Given the description of an element on the screen output the (x, y) to click on. 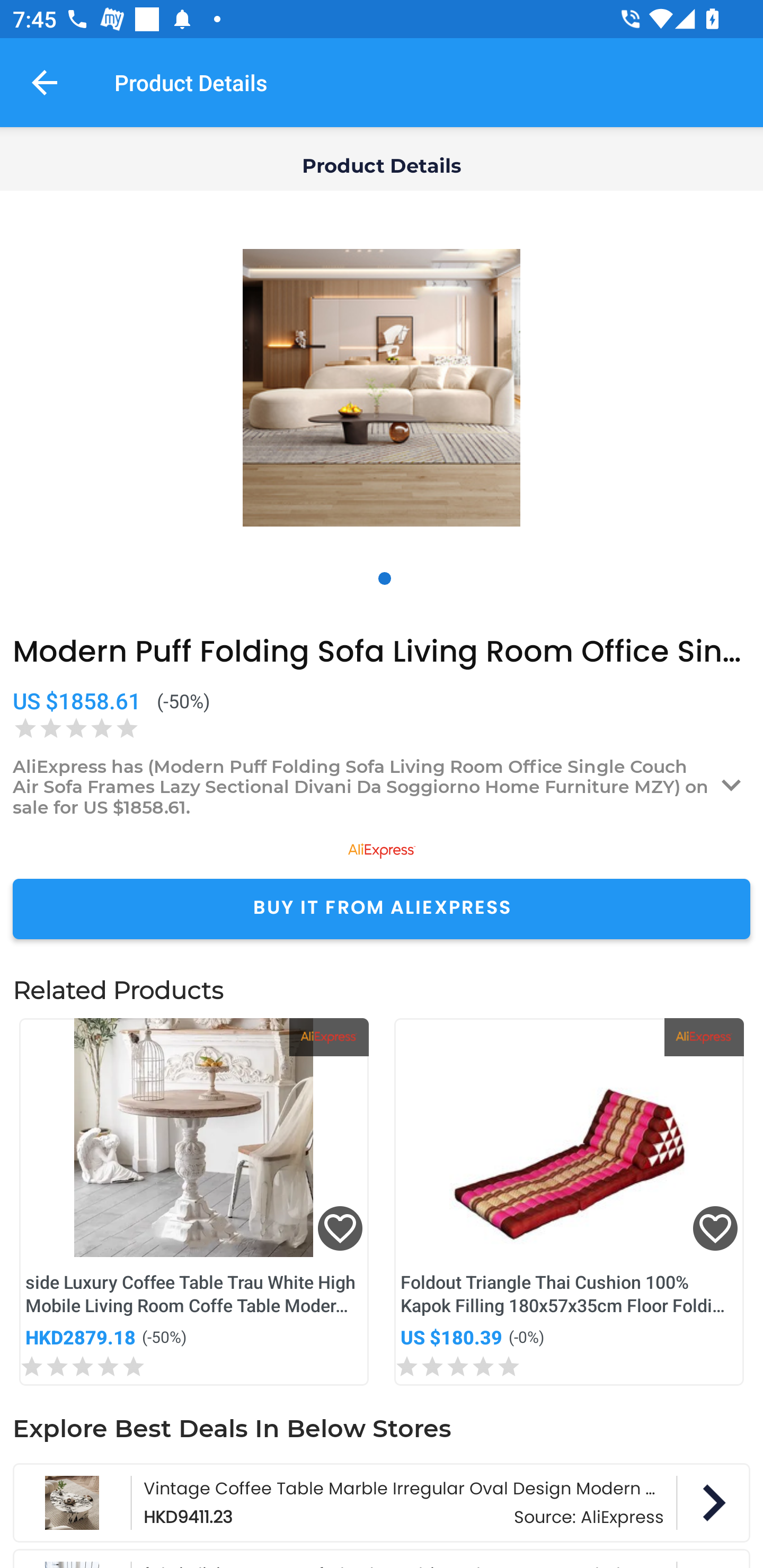
Navigate up (44, 82)
BUY IT FROM ALIEXPRESS (381, 908)
